Given the description of an element on the screen output the (x, y) to click on. 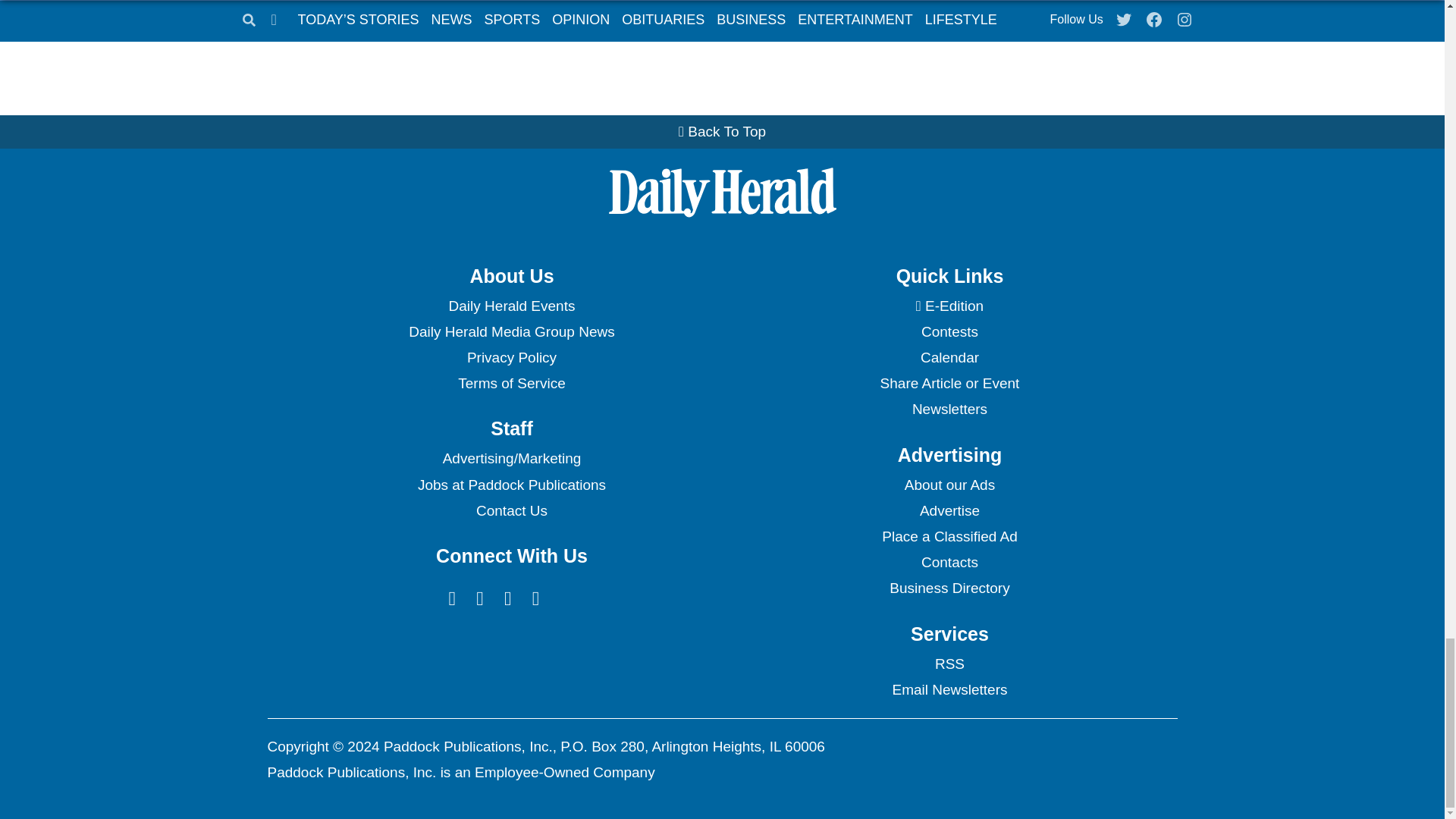
Daily Herald Events (511, 306)
Contact Us (511, 510)
Privacy Policy (511, 357)
Contests (949, 331)
Daily Herald Media Group News (511, 331)
Terms of Service (511, 383)
Daily Herald Digital Newspaper (949, 306)
Jobs at Paddock Publications (511, 484)
